Given the description of an element on the screen output the (x, y) to click on. 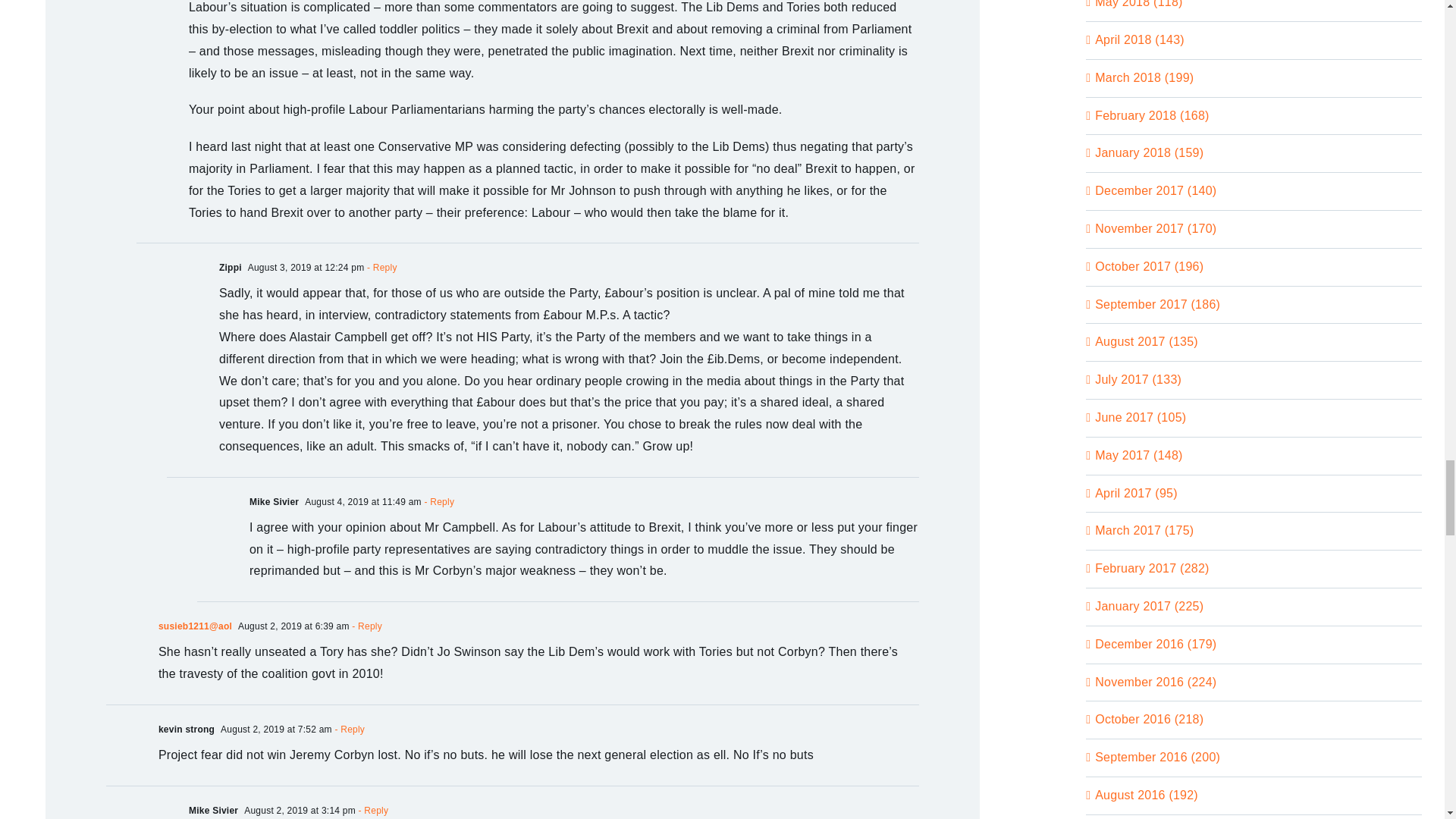
- Reply (380, 267)
- Reply (438, 501)
